Given the description of an element on the screen output the (x, y) to click on. 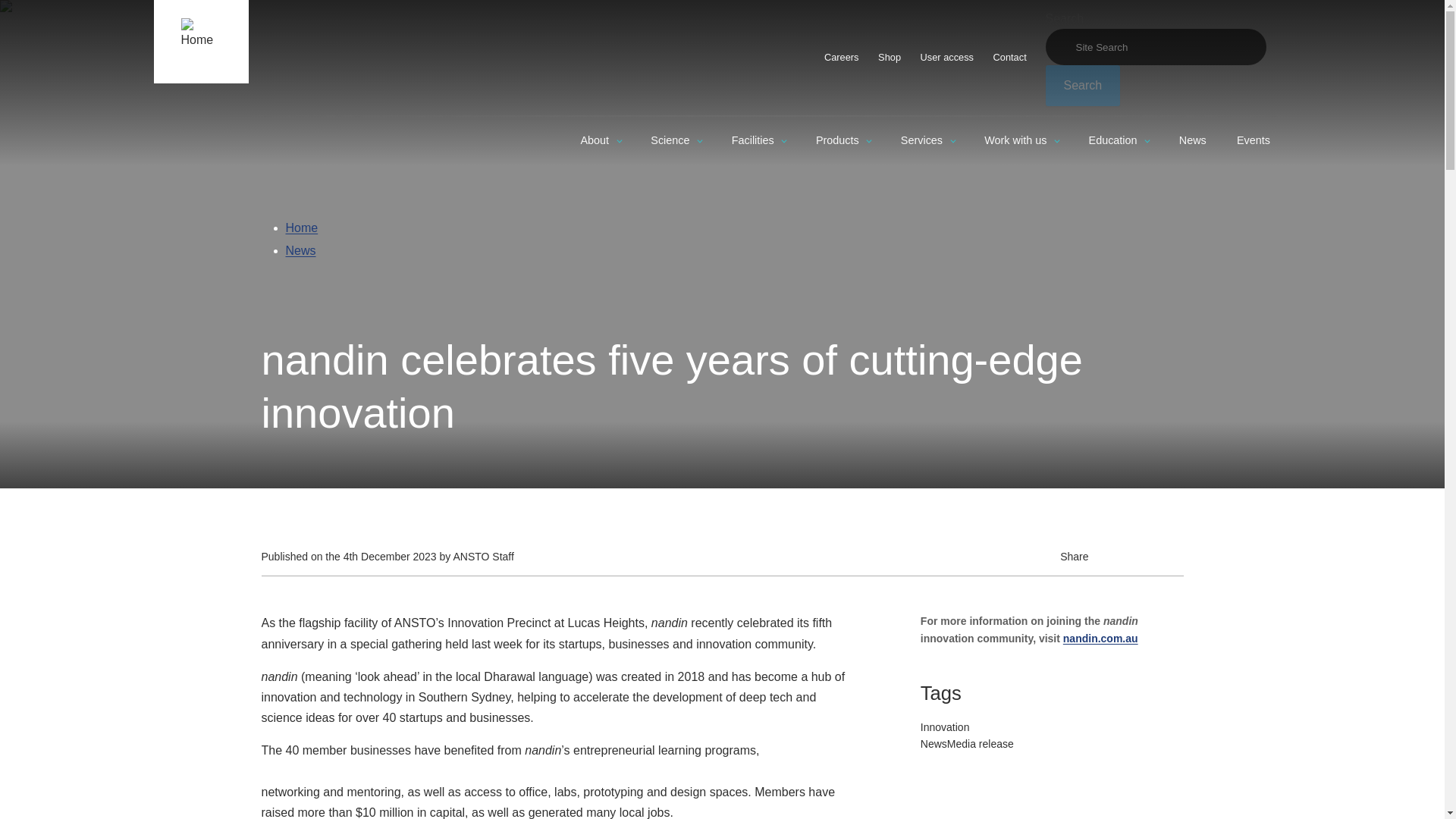
Careers (840, 56)
Expand (618, 140)
About (600, 140)
Contact (1010, 56)
Search (1082, 85)
Search (1082, 85)
Shop (888, 56)
User access (947, 56)
